Given the description of an element on the screen output the (x, y) to click on. 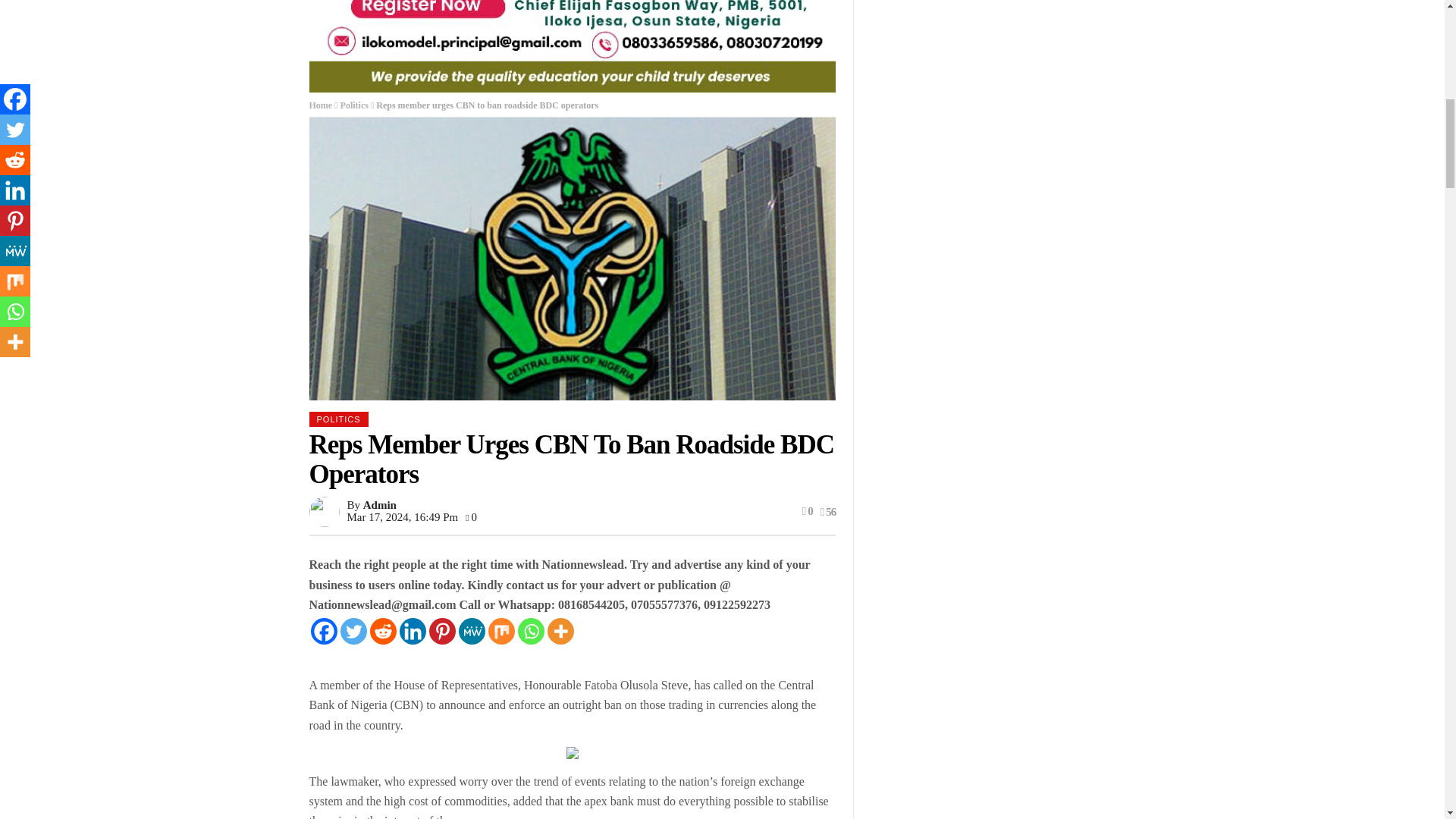
Home (320, 104)
More (560, 631)
Politics (354, 104)
Mix (501, 631)
Whatsapp (529, 631)
Reddit (382, 631)
Twitter (352, 631)
MeWe (471, 631)
Linkedin (411, 631)
POLITICS (338, 418)
Pinterest (442, 631)
Posts by admin (379, 504)
Admin (379, 504)
Facebook (324, 631)
0 (471, 517)
